Given the description of an element on the screen output the (x, y) to click on. 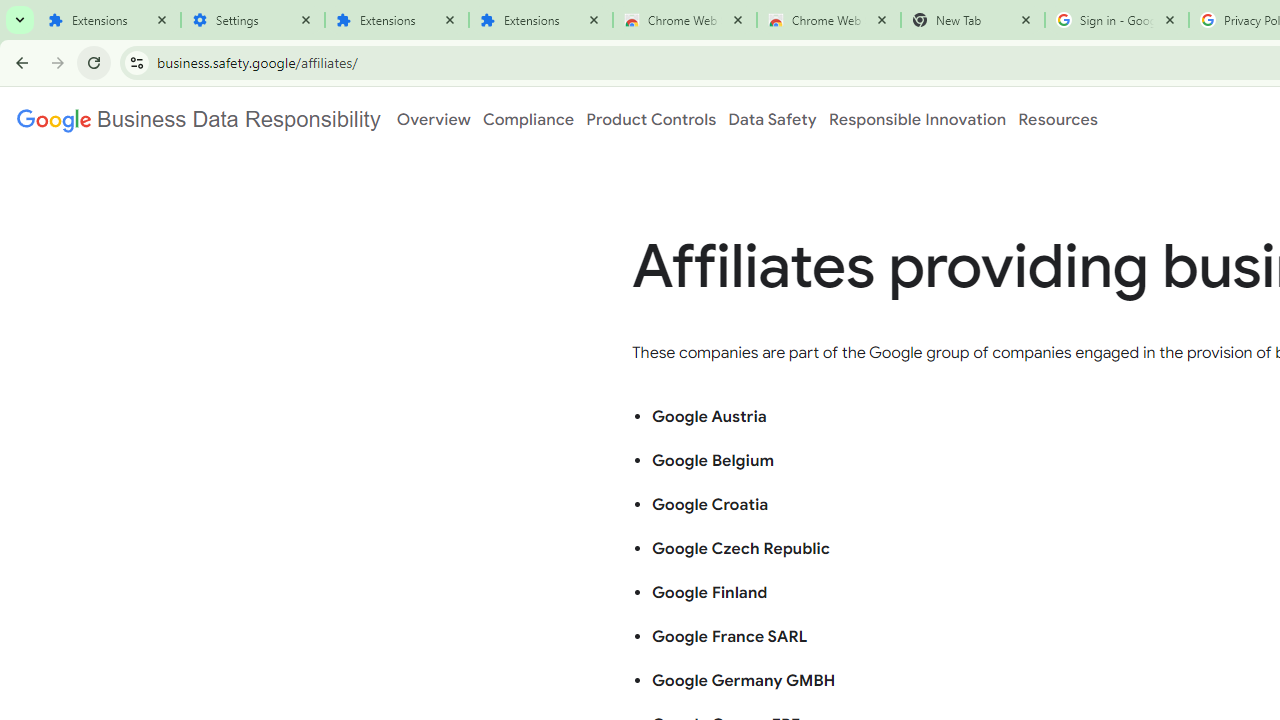
Sign in - Google Accounts (1116, 20)
Compliance (528, 119)
Resources (1058, 119)
Extensions (396, 20)
